Given the description of an element on the screen output the (x, y) to click on. 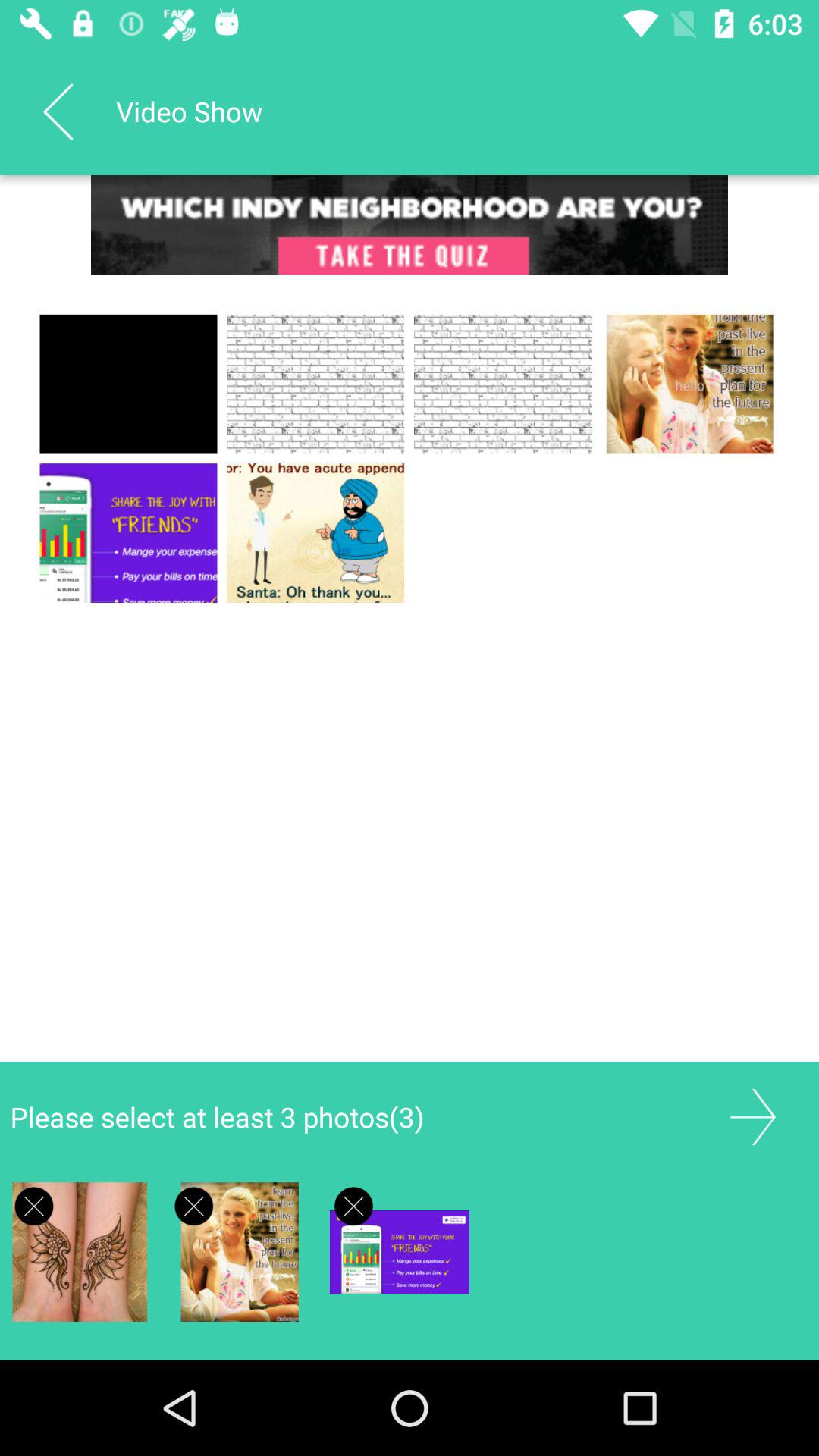
open the advertisement link (409, 224)
